Given the description of an element on the screen output the (x, y) to click on. 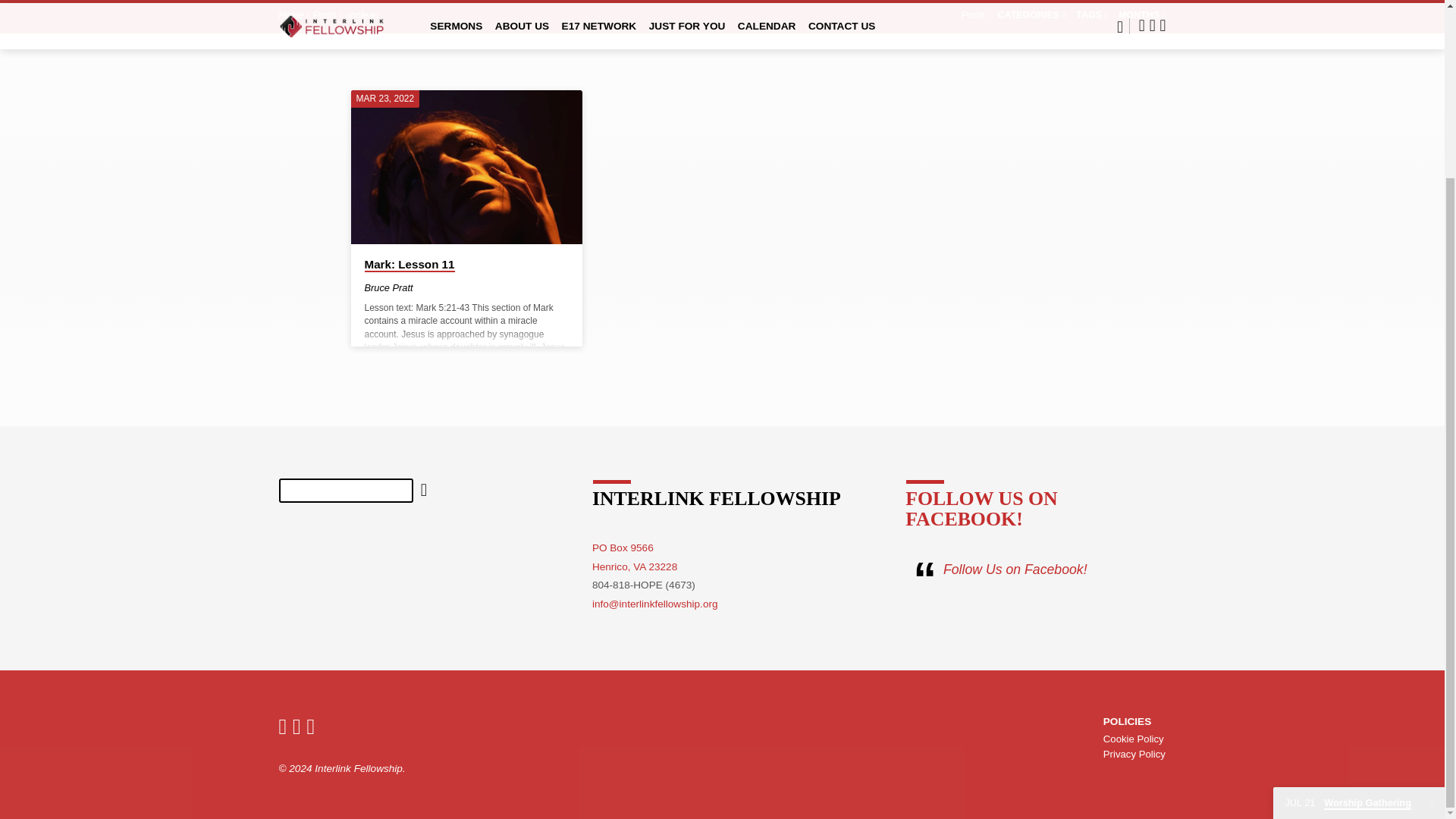
MONTHS (1142, 14)
Bruce Pratt (388, 287)
Worship Gathering (1347, 585)
Home (291, 14)
TAGS (1091, 14)
FOLLOW US ON FACEBOOK! (981, 508)
Posts (324, 14)
CATEGORIES (1031, 14)
unclean (362, 14)
Follow Us on Facebook! (1015, 569)
Mark: Lesson 11 (634, 556)
Mark: Lesson 11 (465, 167)
